Given the description of an element on the screen output the (x, y) to click on. 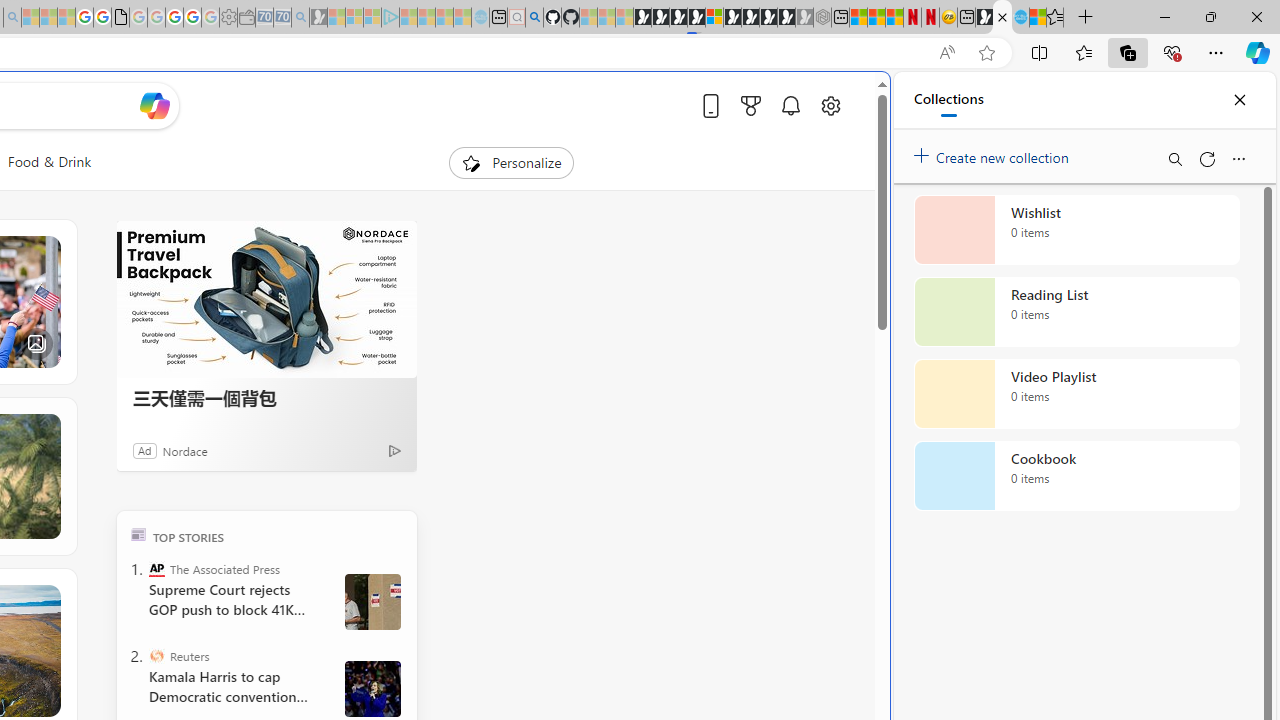
Reading List collection, 0 items (1076, 312)
Video Playlist collection, 0 items (1076, 394)
Sign in to your account (714, 17)
